Given the description of an element on the screen output the (x, y) to click on. 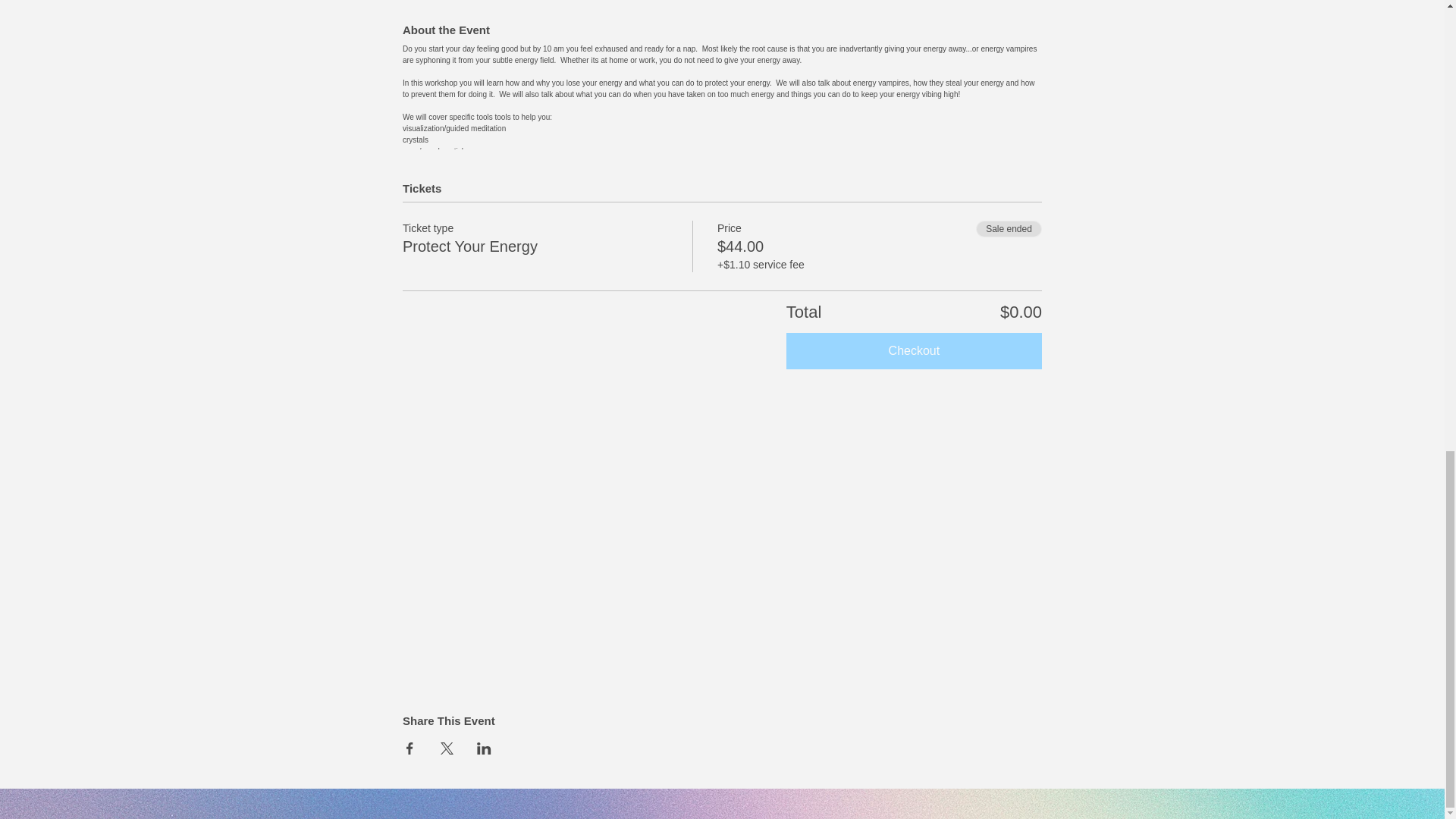
Checkout (914, 350)
